Given the description of an element on the screen output the (x, y) to click on. 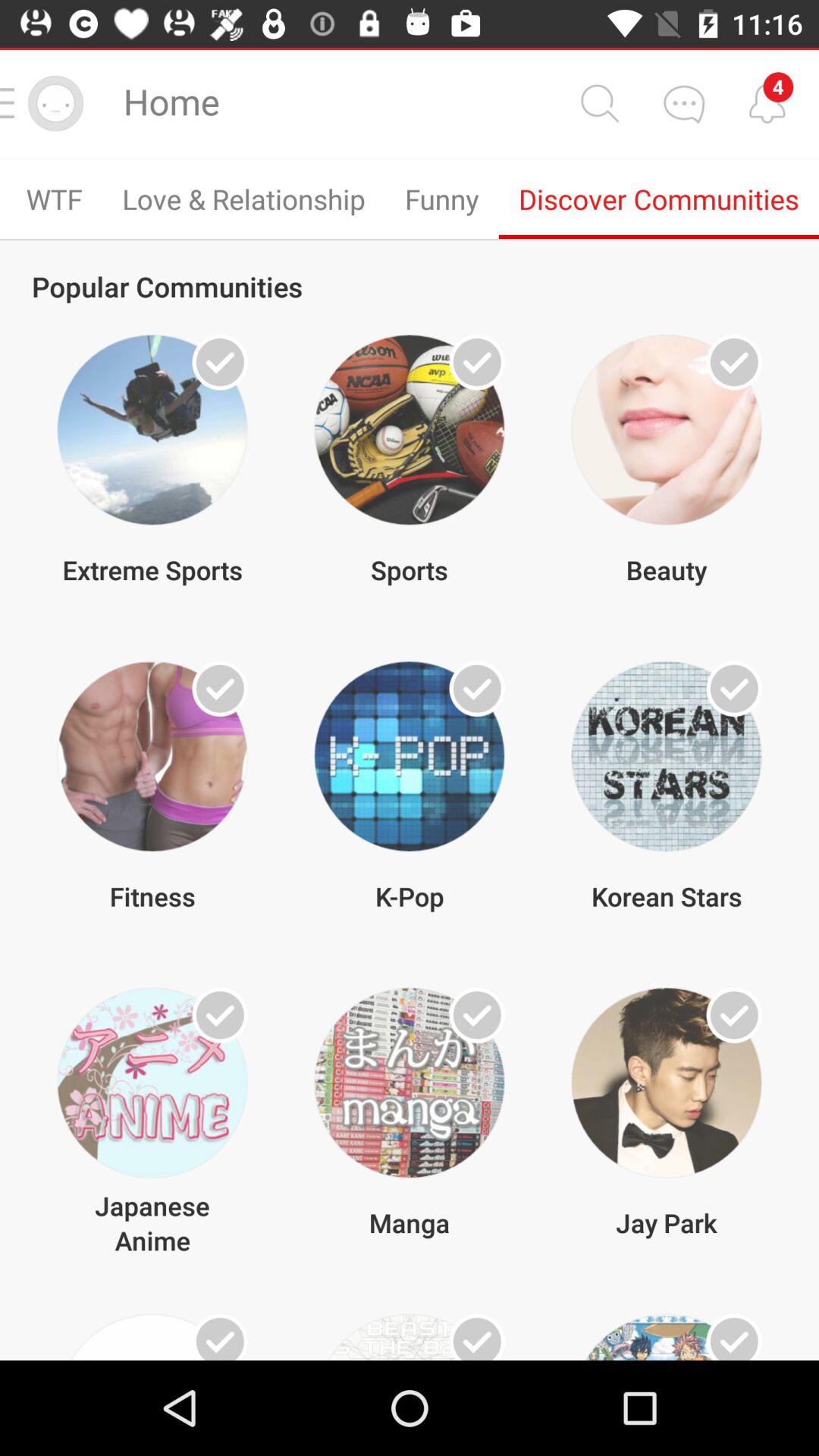
select multiple (477, 688)
